Given the description of an element on the screen output the (x, y) to click on. 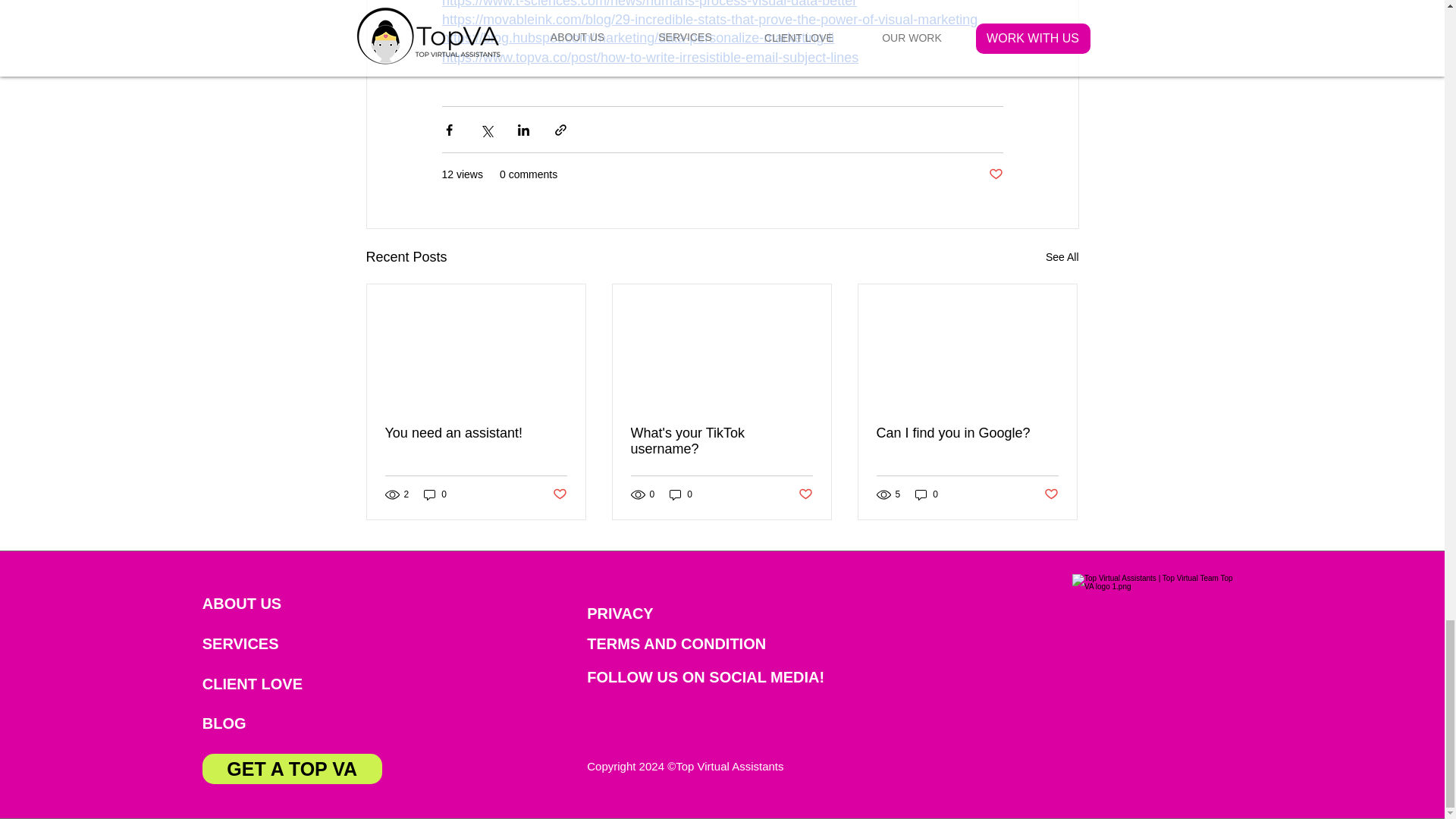
See All (1061, 257)
Post not marked as liked (995, 174)
0 (681, 494)
Post not marked as liked (804, 494)
What's your TikTok username? (721, 441)
Post not marked as liked (558, 494)
You need an assistant! (476, 433)
0 (435, 494)
